Given the description of an element on the screen output the (x, y) to click on. 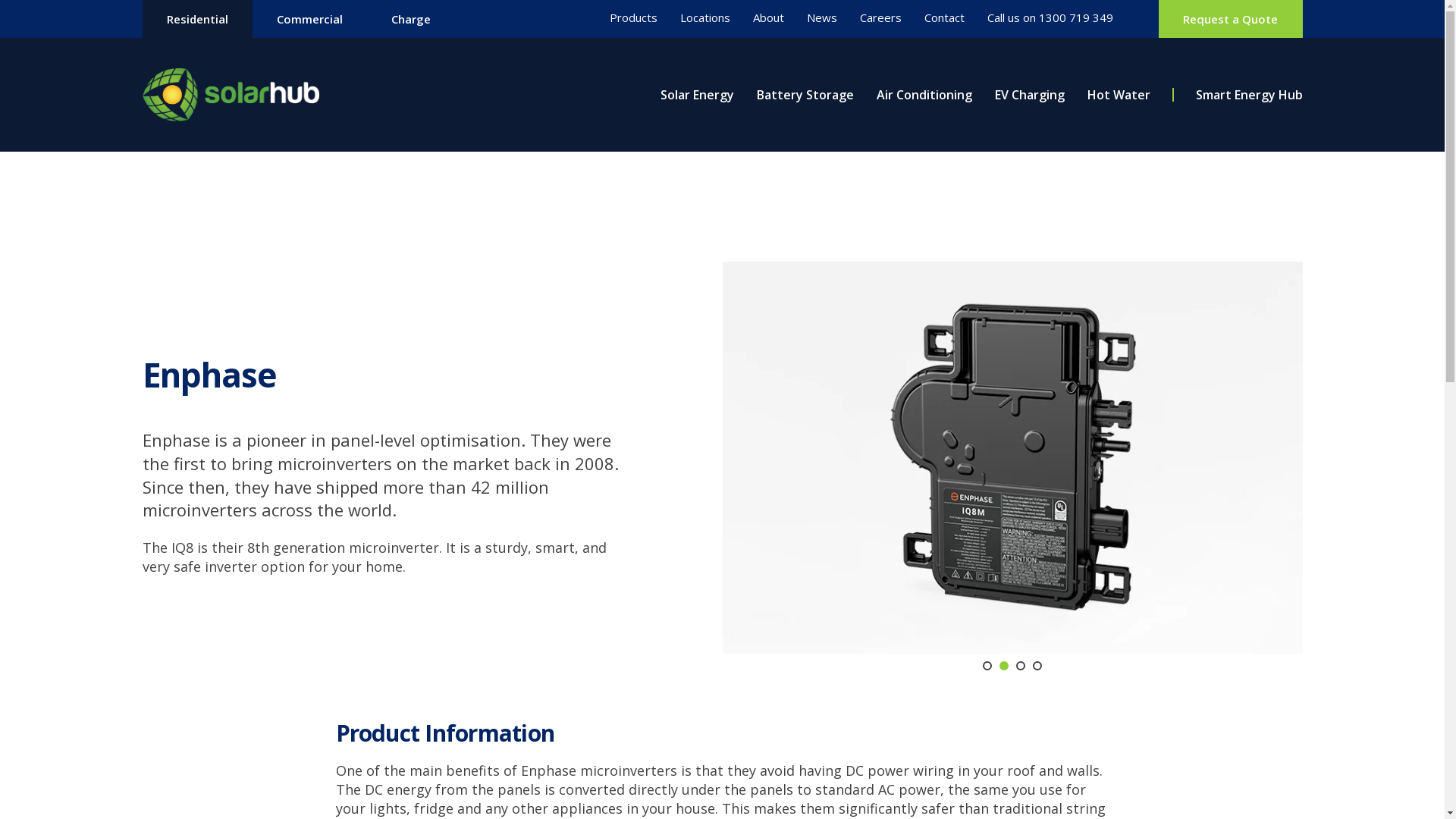
News Element type: text (821, 17)
Air Conditioning Element type: text (924, 94)
Call us on 1300 719 349 Element type: text (1050, 17)
Careers Element type: text (880, 17)
EV Charging Element type: text (1029, 94)
Locations Element type: text (705, 17)
Hot Water Element type: text (1118, 94)
1 Element type: text (986, 665)
Products Element type: text (633, 17)
Charge Element type: text (411, 18)
Request a Quote Element type: text (1230, 18)
Smart Energy Hub Element type: text (1248, 94)
4 Element type: text (1036, 665)
Residential Element type: text (197, 18)
Battery Storage Element type: text (804, 94)
Commercial Element type: text (309, 18)
2 Element type: text (1003, 665)
SolarHub Element type: text (231, 94)
3 Element type: text (1020, 665)
Contact Element type: text (944, 17)
About Element type: text (768, 17)
Solar Energy Element type: text (696, 94)
